Given the description of an element on the screen output the (x, y) to click on. 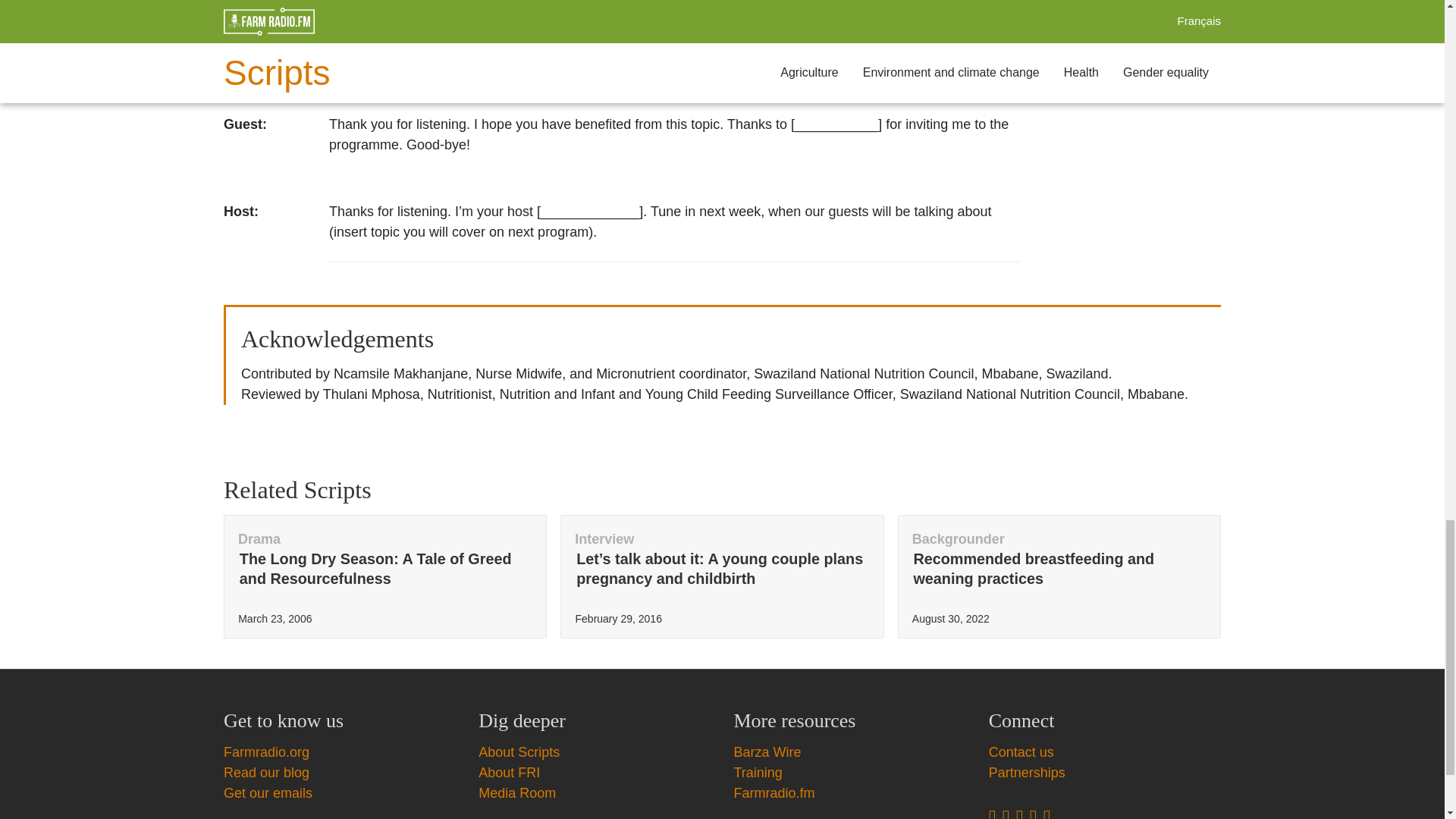
About FRI (509, 772)
About Scripts (519, 752)
Training (758, 772)
Farmradio.fm (774, 792)
Partnerships (1026, 772)
Farmradio.org (266, 752)
Read our blog (266, 772)
Contact us (1021, 752)
